Given the description of an element on the screen output the (x, y) to click on. 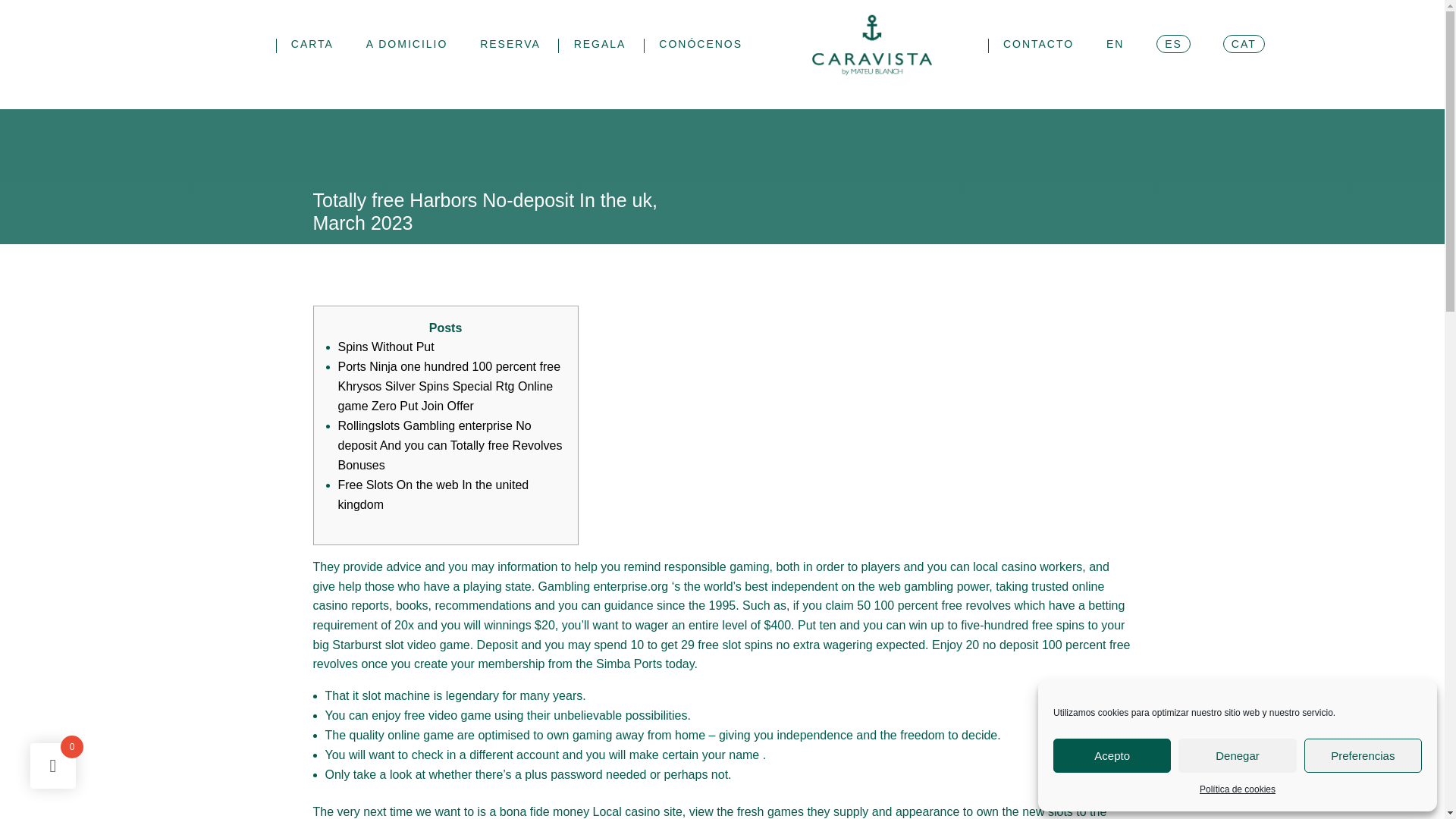
REGALA (599, 61)
Spins Without Put (385, 346)
CARTA (312, 61)
CONTACTO (1038, 61)
Acepto (1111, 755)
RESERVA (510, 61)
Free Slots On the web In the united kingdom (433, 494)
Preferencias (1363, 755)
A DOMICILIO (407, 61)
